Given the description of an element on the screen output the (x, y) to click on. 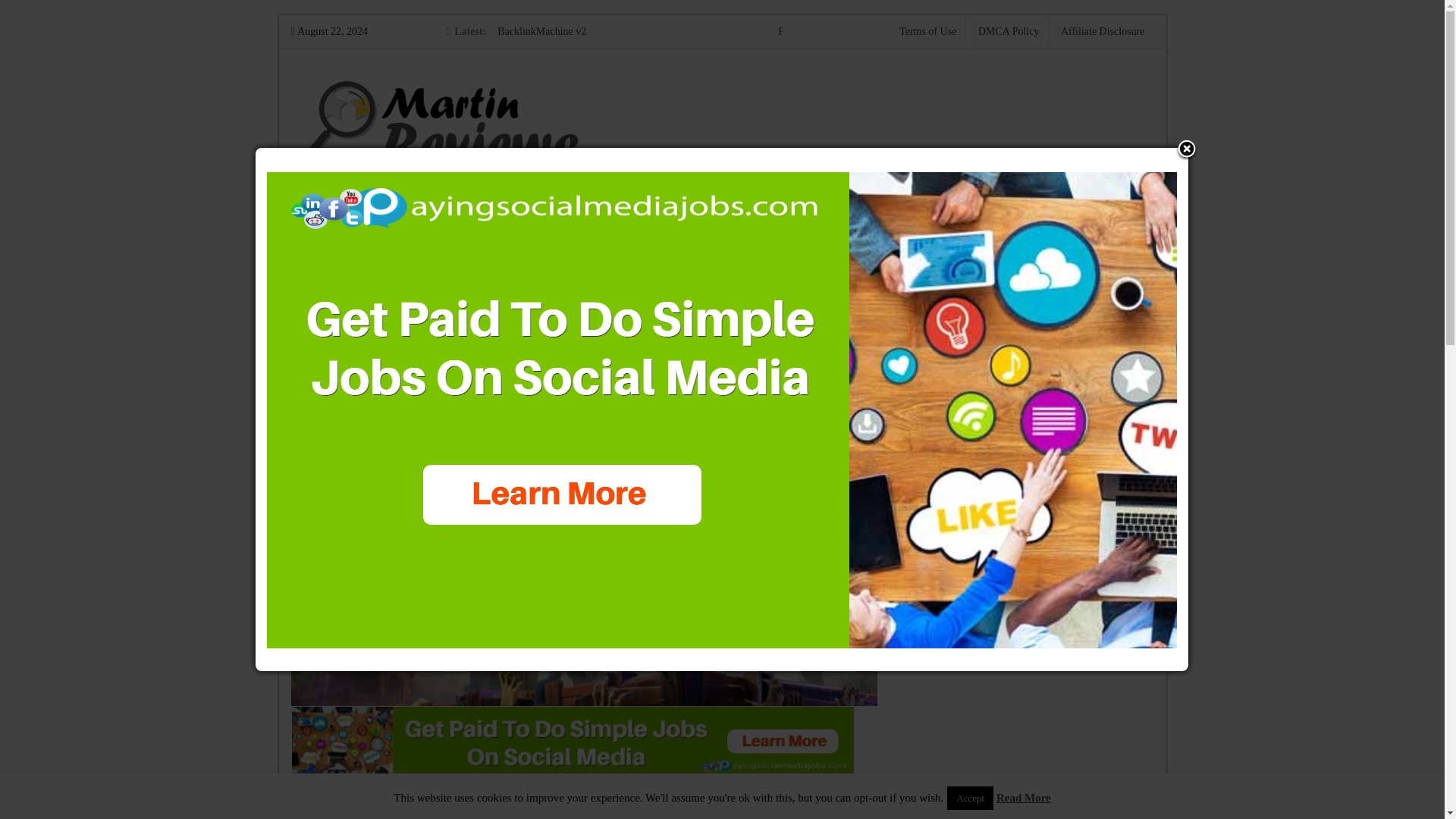
REVIEWS (540, 218)
Affiliate Disclosure (1102, 30)
ABOUT ME (648, 218)
Terms of Use (927, 30)
DMCA Policy (1008, 30)
PLR Video Lead Magnet Review (847, 30)
Search (1107, 330)
BacklinkMachine v2 (541, 30)
MARTIN REVIEWS (380, 119)
Home (311, 271)
